Given the description of an element on the screen output the (x, y) to click on. 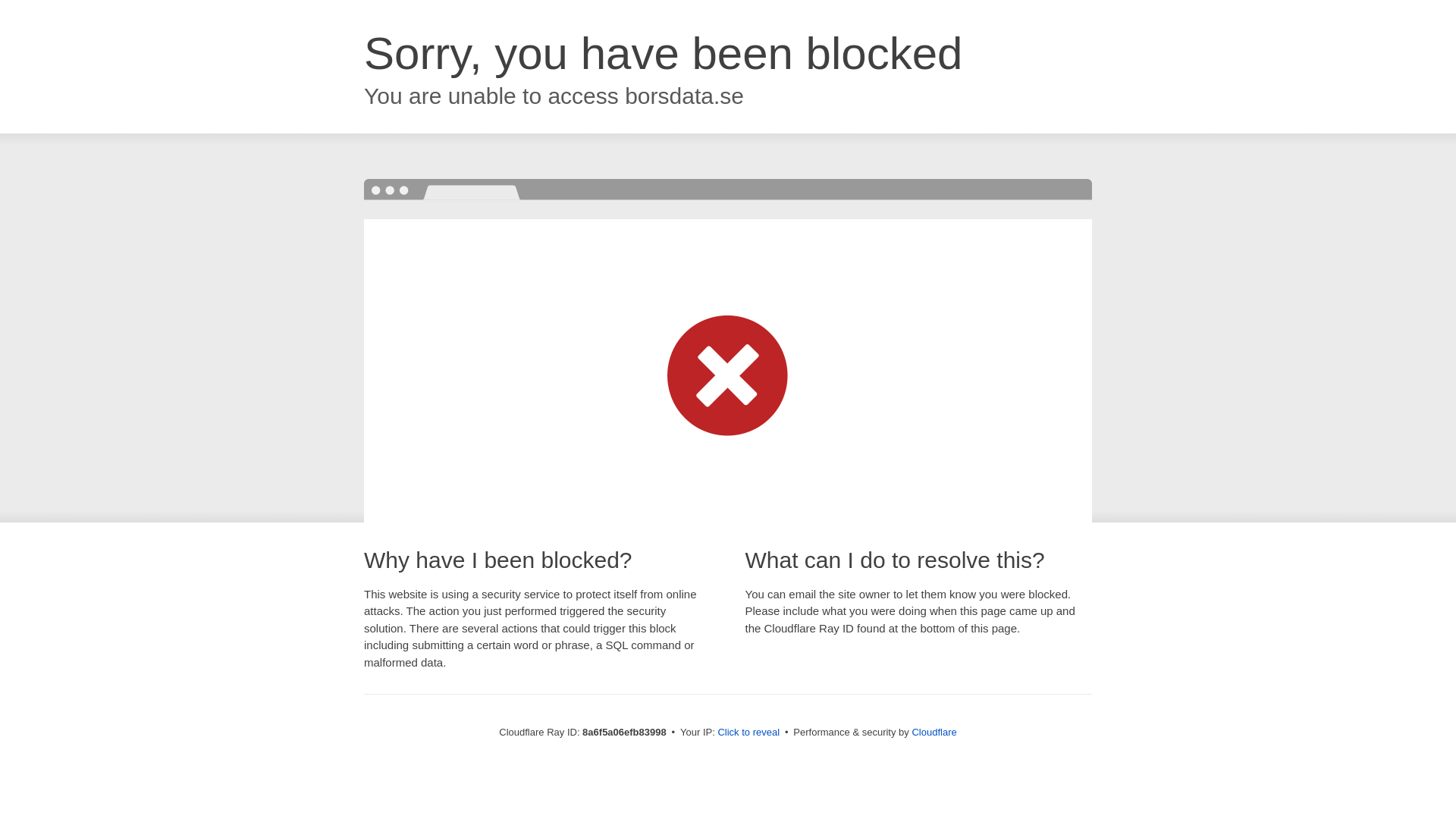
Cloudflare (933, 731)
Click to reveal (747, 732)
